Given the description of an element on the screen output the (x, y) to click on. 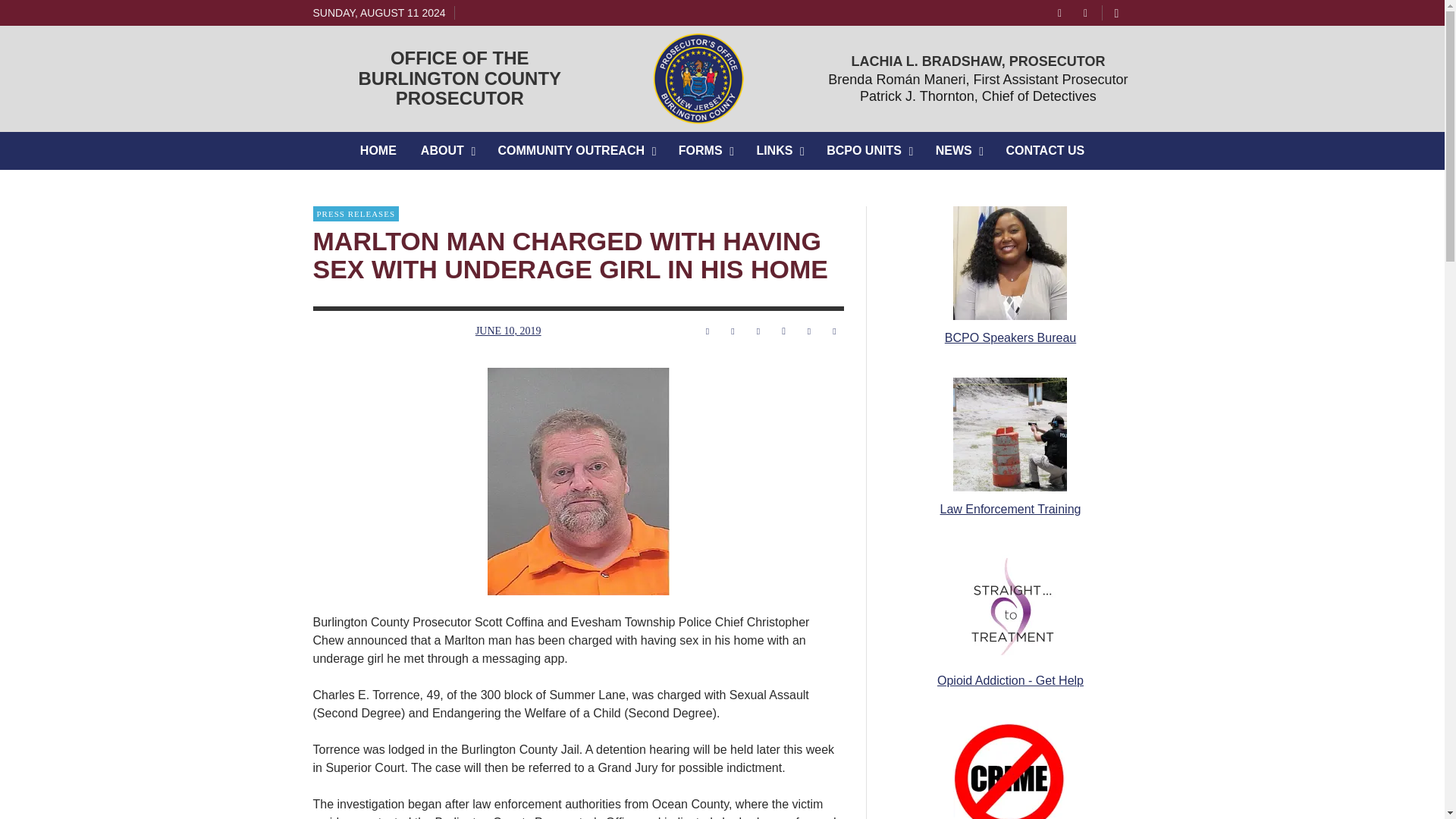
BCPO UNITS (868, 150)
LACHIA L. BRADSHAW, PROSECUTOR (977, 61)
HOME (378, 150)
FORMS (705, 150)
COMMUNITY OUTREACH (459, 77)
LINKS (576, 150)
Patrick J. Thornton, Chief of Detectives (778, 150)
ABOUT (978, 96)
